Given the description of an element on the screen output the (x, y) to click on. 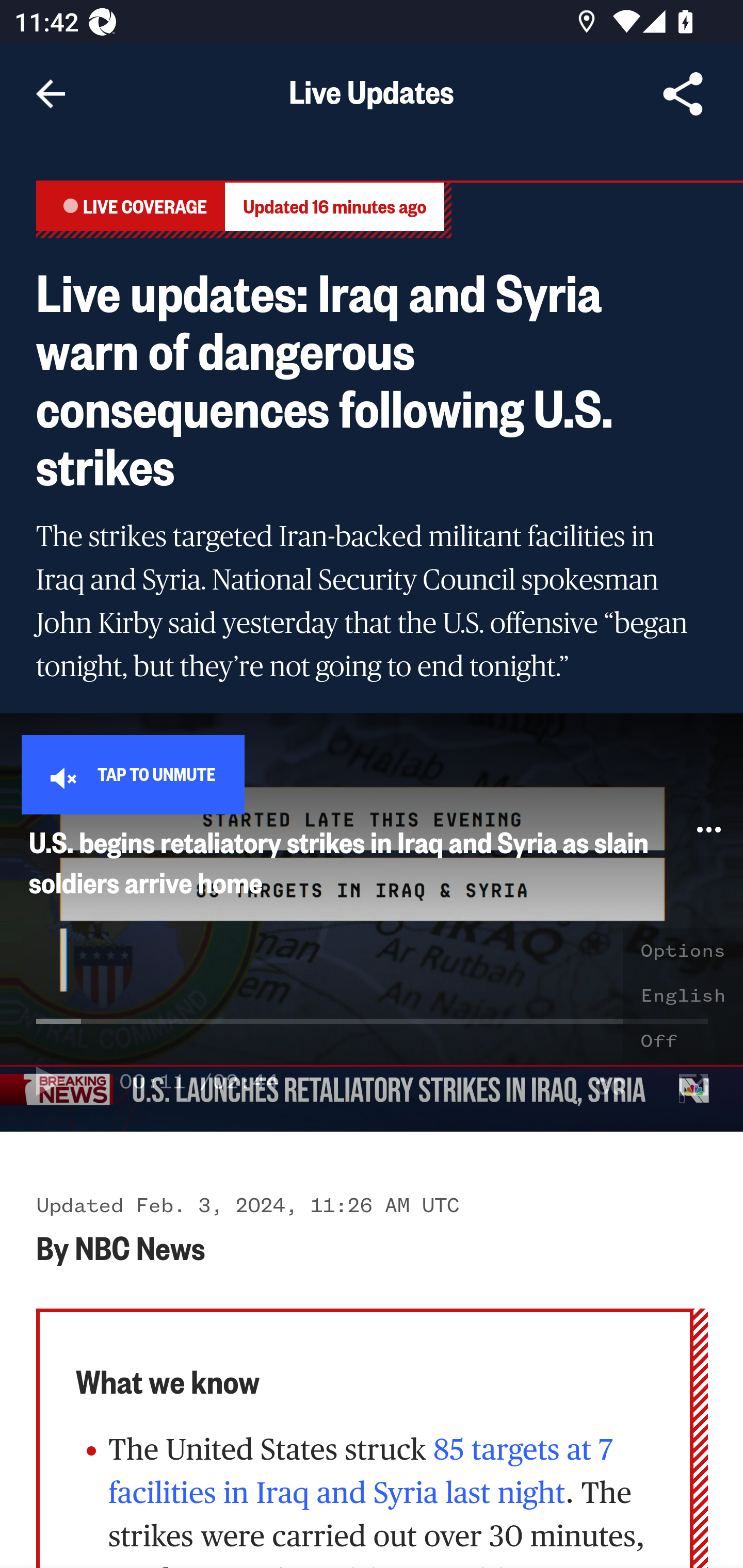
Navigate up (50, 93)
Share Article, button (683, 94)
 TAP TO UNMUTE (133, 773)
Options (682, 951)
English (682, 995)
Off (682, 1040)
